Given the description of an element on the screen output the (x, y) to click on. 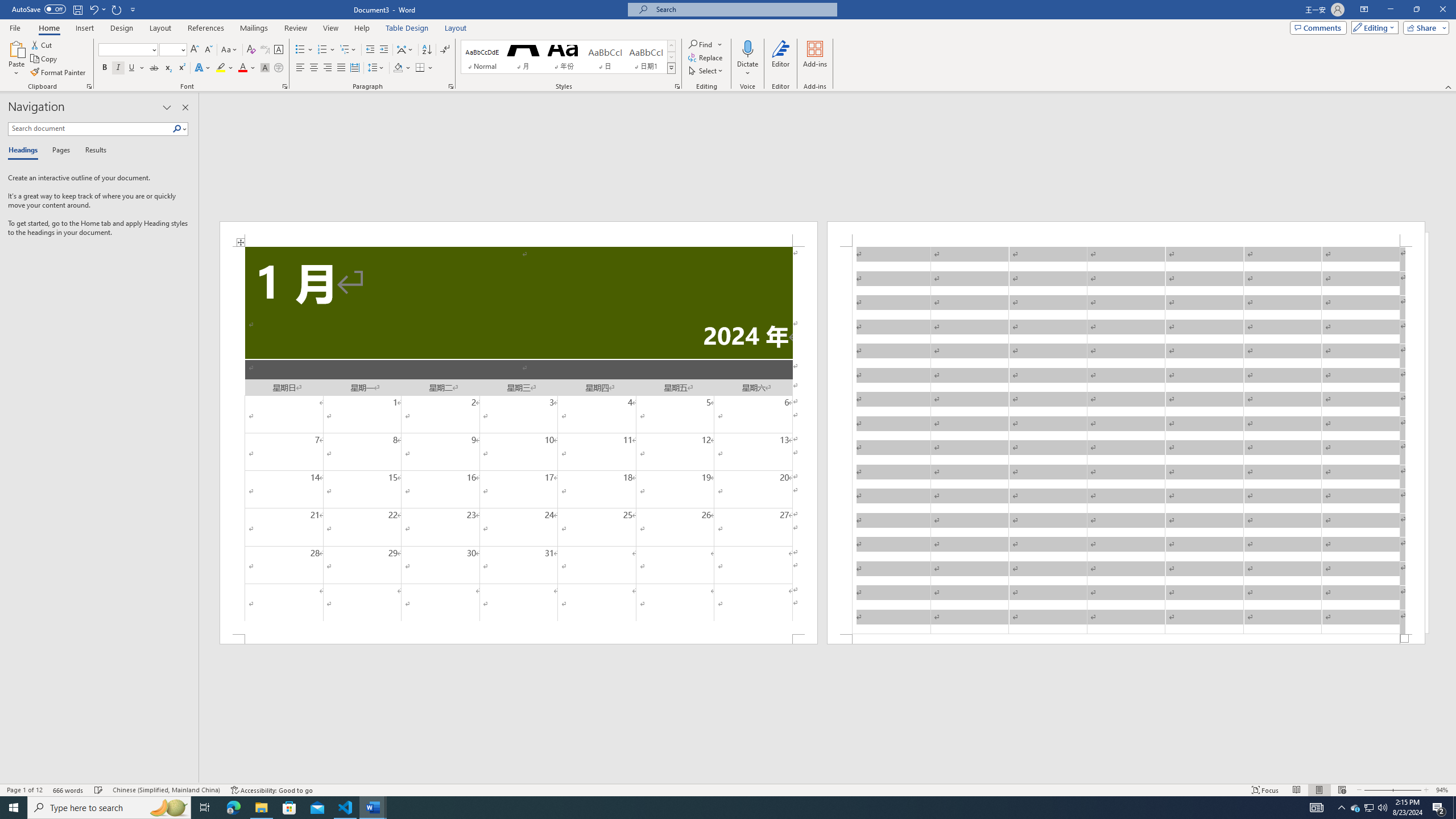
Font... (285, 85)
Character Shading (264, 67)
Enclose Characters... (278, 67)
Asian Layout (405, 49)
Superscript (180, 67)
Undo Italic (92, 9)
Table Design (407, 28)
